Given the description of an element on the screen output the (x, y) to click on. 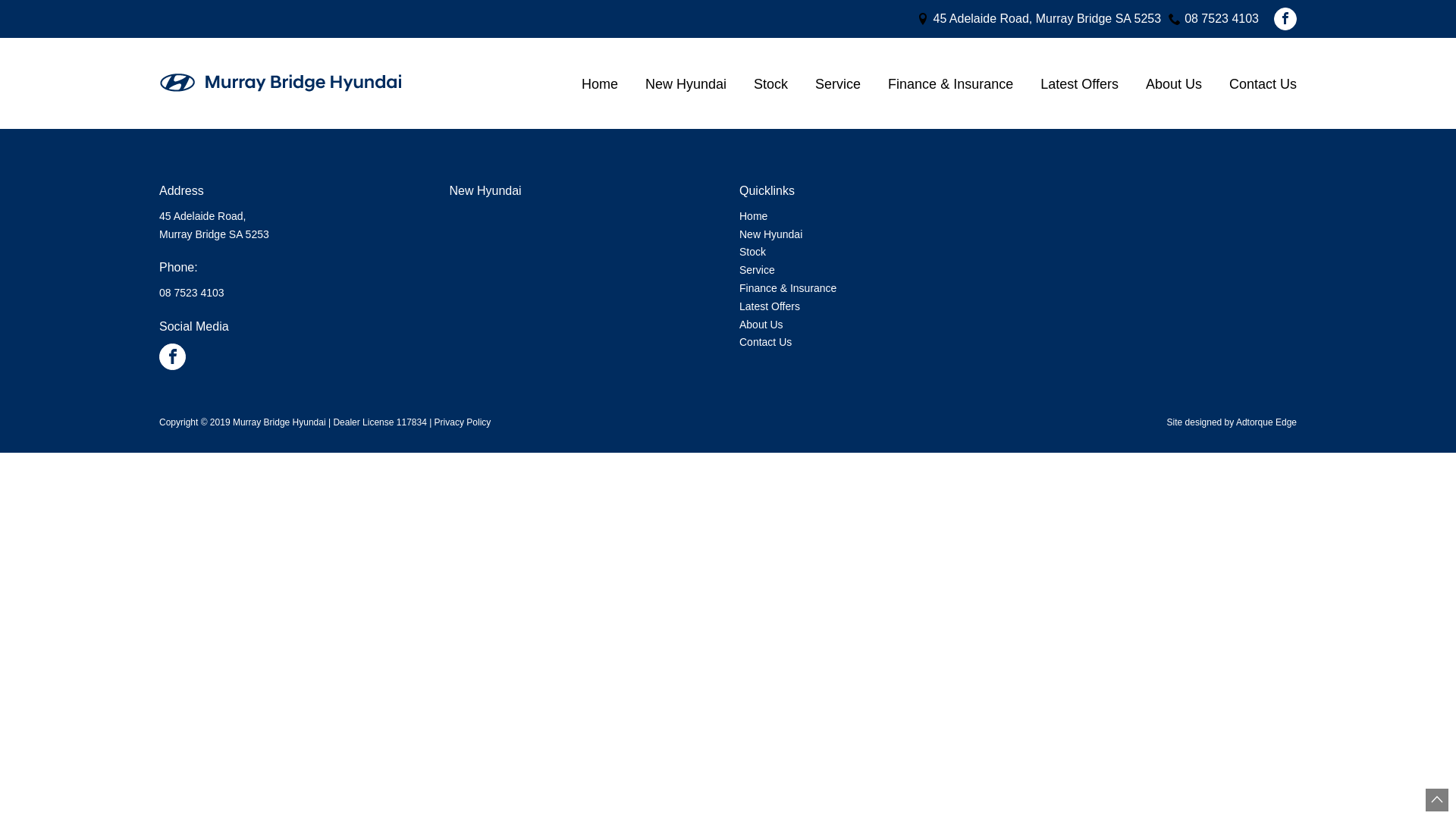
08 7523 4103 Element type: text (1221, 19)
New Hyundai Element type: text (770, 234)
Contact Us Element type: text (765, 341)
Finance & Insurance Element type: text (950, 82)
Service Element type: text (757, 269)
Stock Element type: text (770, 82)
Stock Element type: text (752, 251)
Latest Offers Element type: text (769, 306)
New Hyundai Element type: text (685, 82)
Site designed by Adtorque Edge Element type: text (1231, 422)
Home Element type: text (599, 82)
08 7523 4103 Element type: text (191, 292)
Contact Us Element type: text (1255, 82)
Latest Offers Element type: text (1079, 82)
45 Adelaide Road, Murray Bridge SA 5253 Element type: text (1046, 19)
About Us Element type: text (1173, 82)
Privacy Policy Element type: text (462, 422)
Home Element type: text (753, 216)
Service Element type: text (837, 82)
About Us Element type: text (761, 324)
Finance & Insurance Element type: text (787, 288)
